Given the description of an element on the screen output the (x, y) to click on. 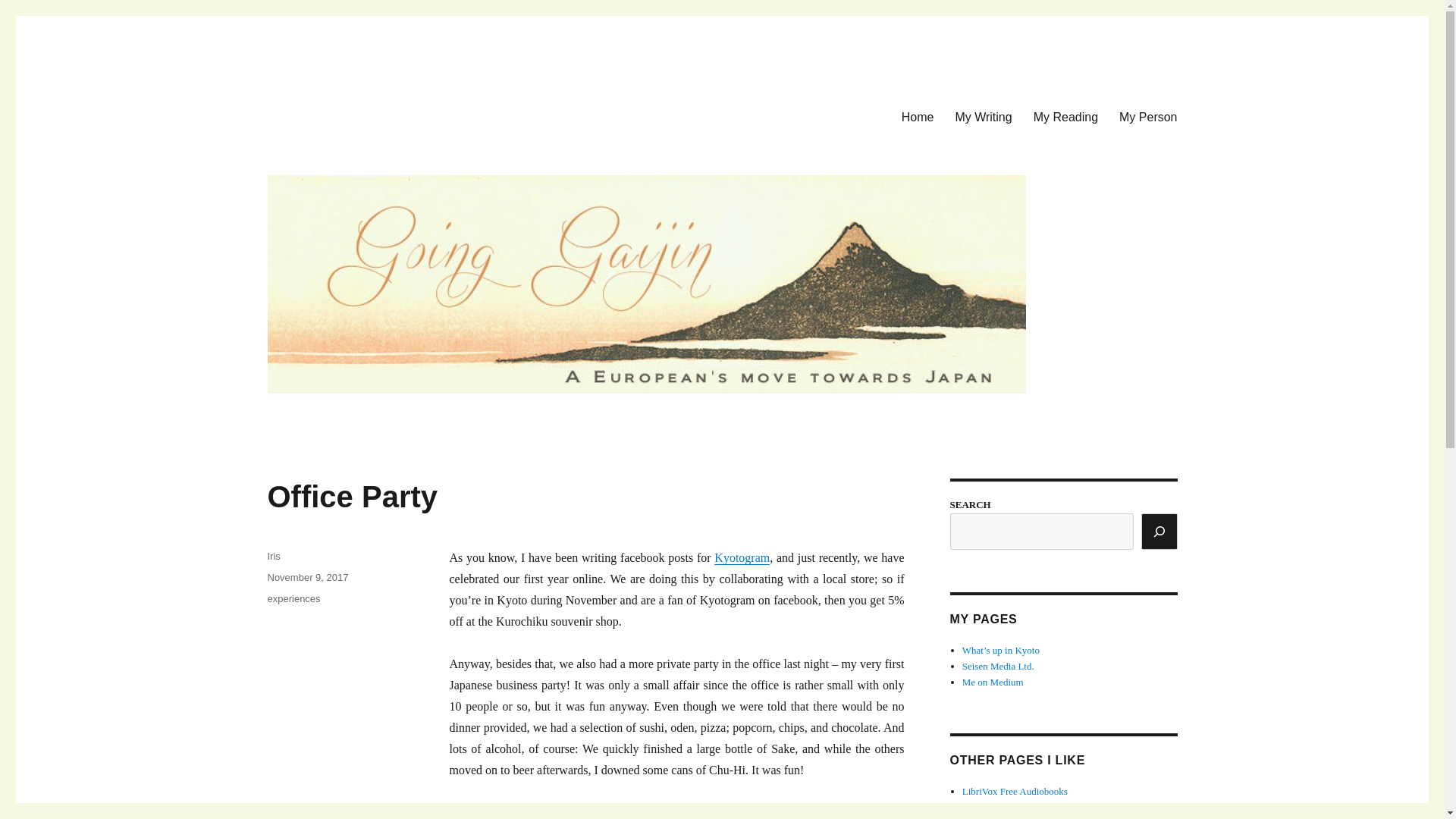
Home (917, 116)
LibriVox Free Audiobooks (1014, 790)
Kyotogram (742, 557)
public domain audiobooks (1004, 807)
Iris (272, 555)
My Person (1148, 116)
goinggaijin.com (347, 114)
Me on Medium (992, 681)
My Reading (1065, 116)
experiences (293, 598)
